Given the description of an element on the screen output the (x, y) to click on. 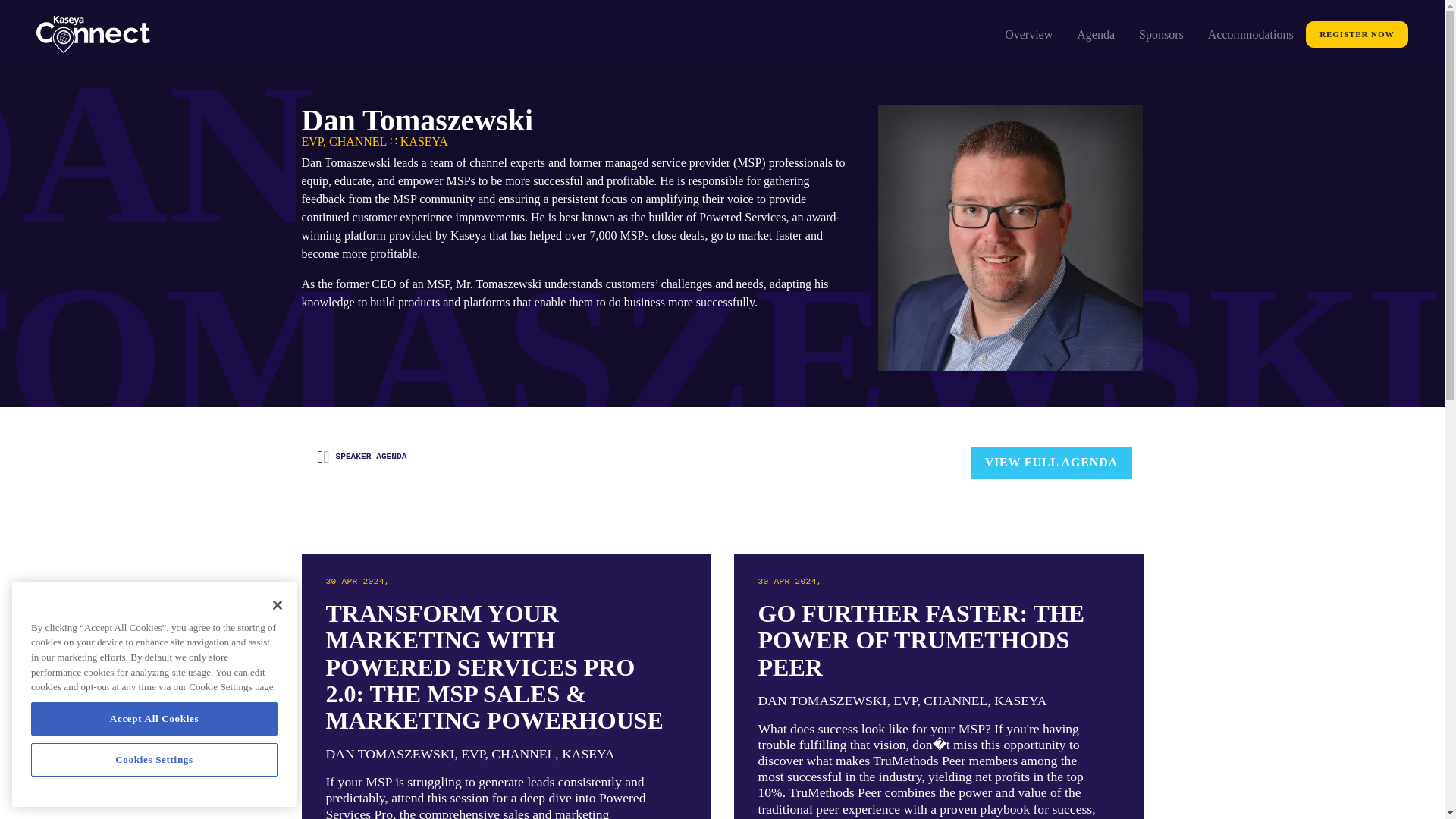
Cookies Settings (154, 759)
Agenda (1095, 34)
Sponsors (1160, 34)
Accommodations (1250, 34)
VIEW FULL AGENDA (1051, 462)
REGISTER NOW (1356, 34)
Accept All Cookies (154, 718)
Overview (1028, 34)
